Given the description of an element on the screen output the (x, y) to click on. 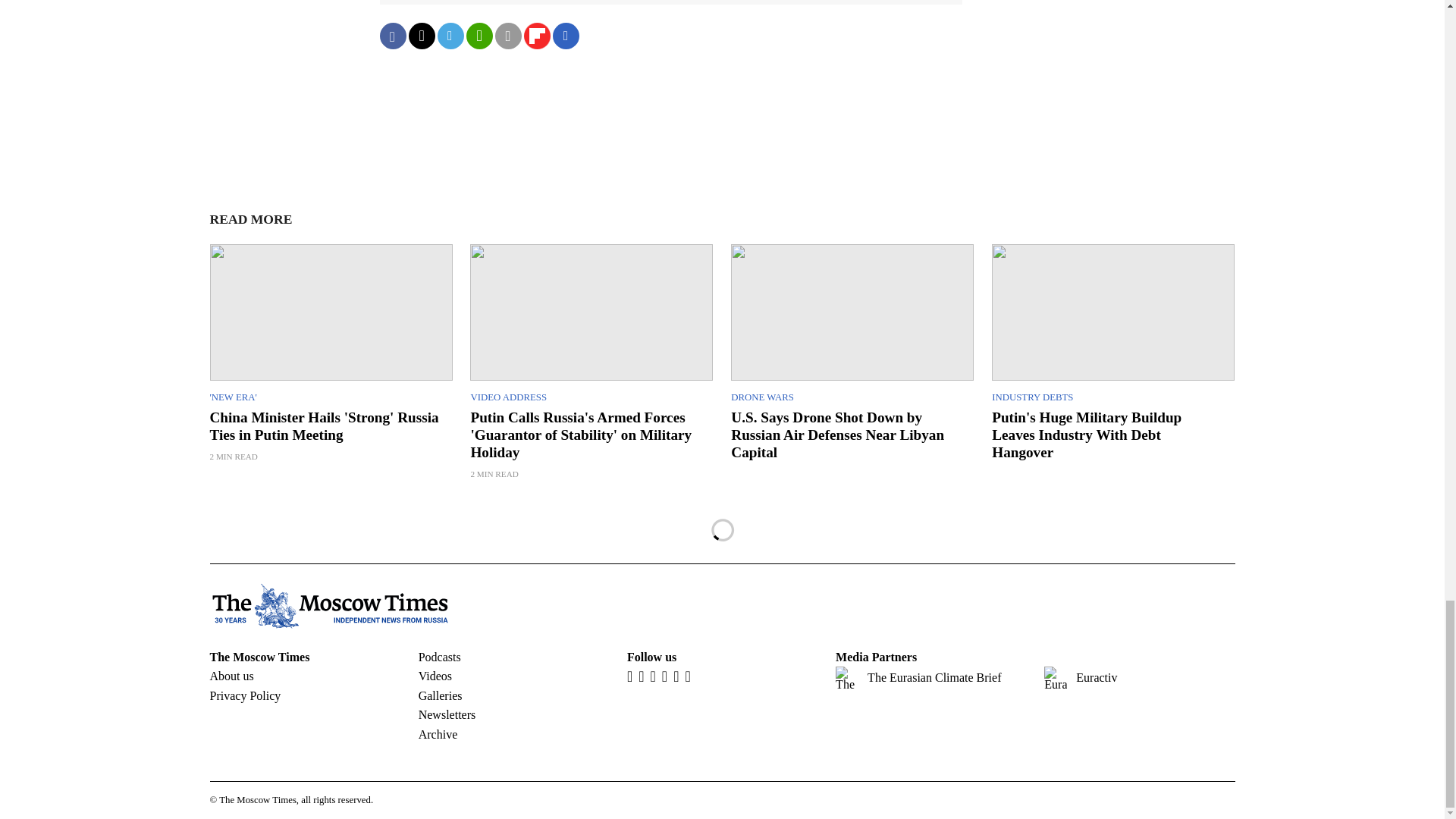
Share on Facebook (392, 35)
Share on Telegram (449, 35)
Share on Twitter (420, 35)
